Given the description of an element on the screen output the (x, y) to click on. 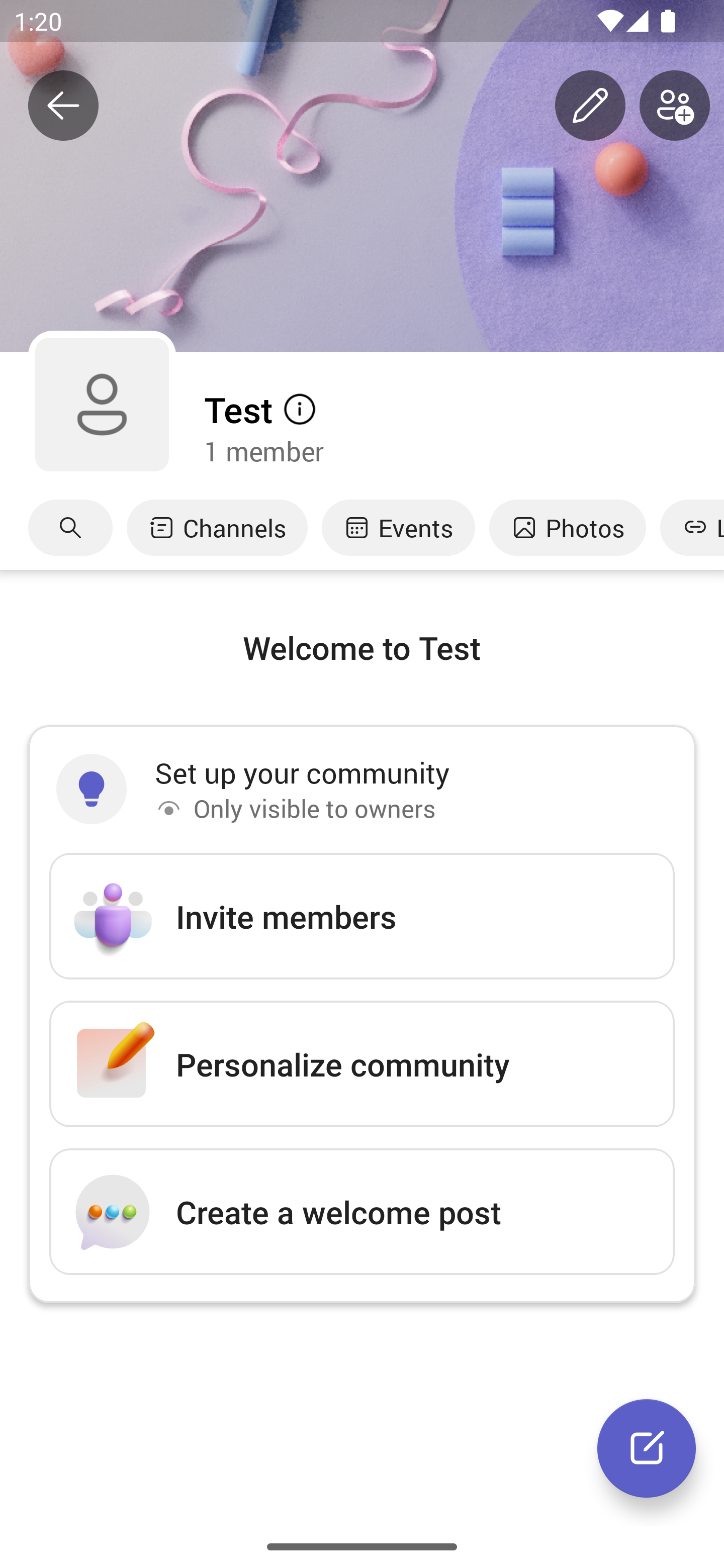
Back (63, 105)
Edit banner image (590, 105)
Add members (674, 105)
Test 1 member (462, 427)
Search tab, 1 of 6 (70, 527)
Channels tab, 2 of 6 Channels (216, 527)
Events tab, 3 of 6 Events (397, 527)
Photos tab, 4 of 6 Photos (567, 527)
Invite members (361, 916)
Personalize community (361, 1063)
Create a welcome post (361, 1210)
New conversation (646, 1447)
